Given the description of an element on the screen output the (x, y) to click on. 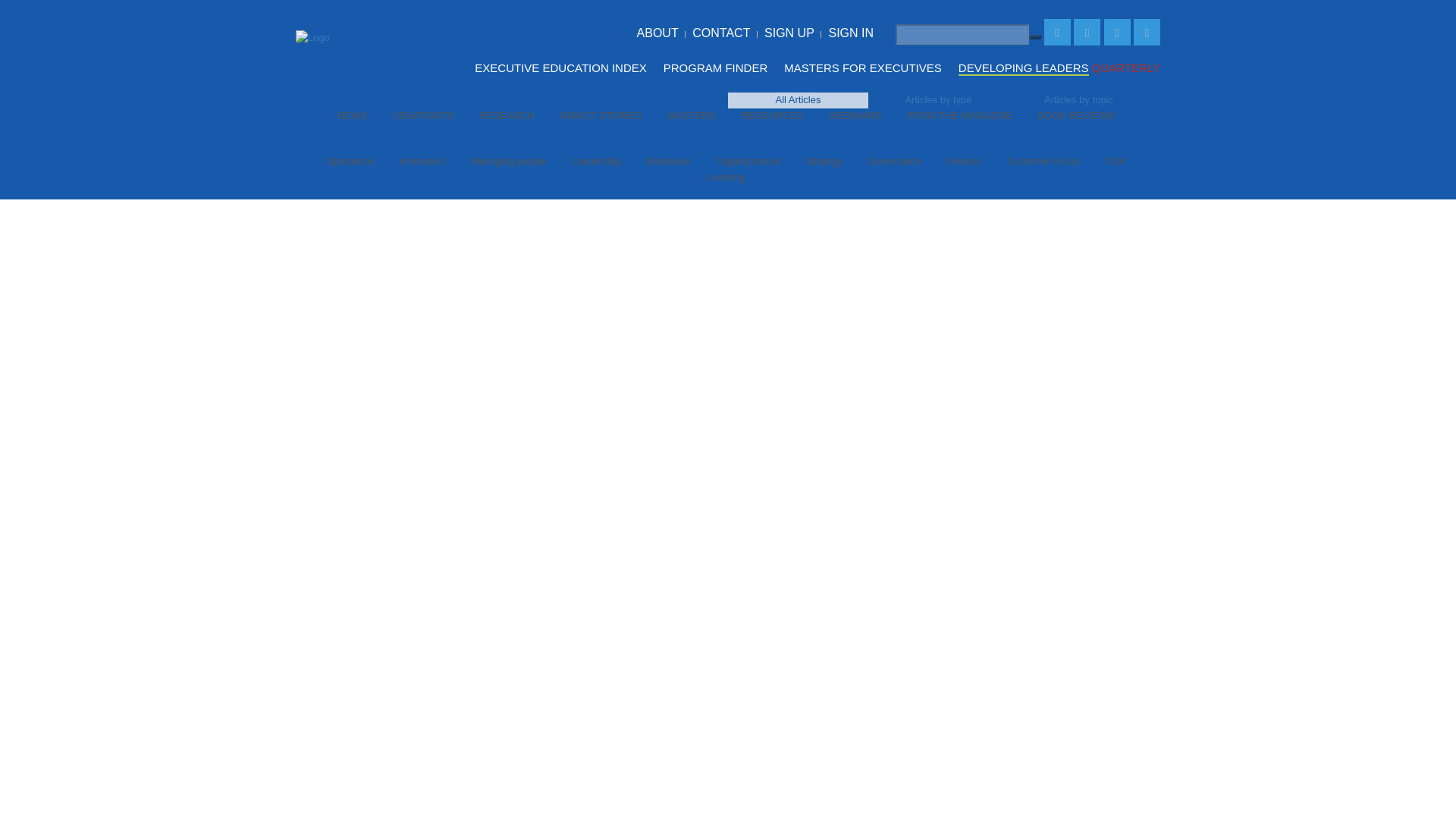
SIGN UP (788, 32)
CONTACT (721, 32)
ABOUT (657, 32)
SIGN IN (850, 32)
